Given the description of an element on the screen output the (x, y) to click on. 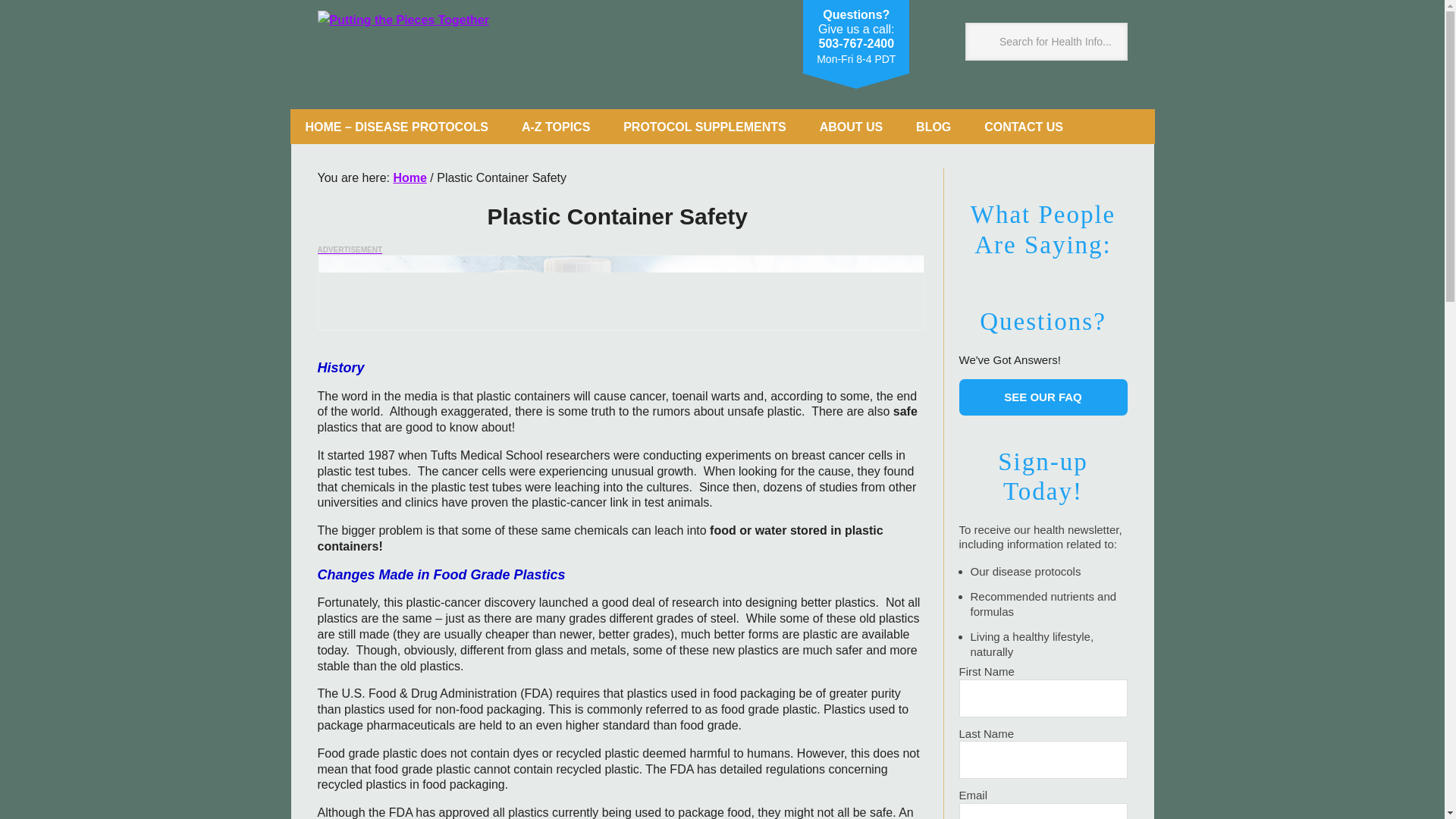
A-Z TOPICS (555, 126)
PROTOCOL SUPPLEMENTS (705, 126)
503-767-2400 (855, 42)
